Given the description of an element on the screen output the (x, y) to click on. 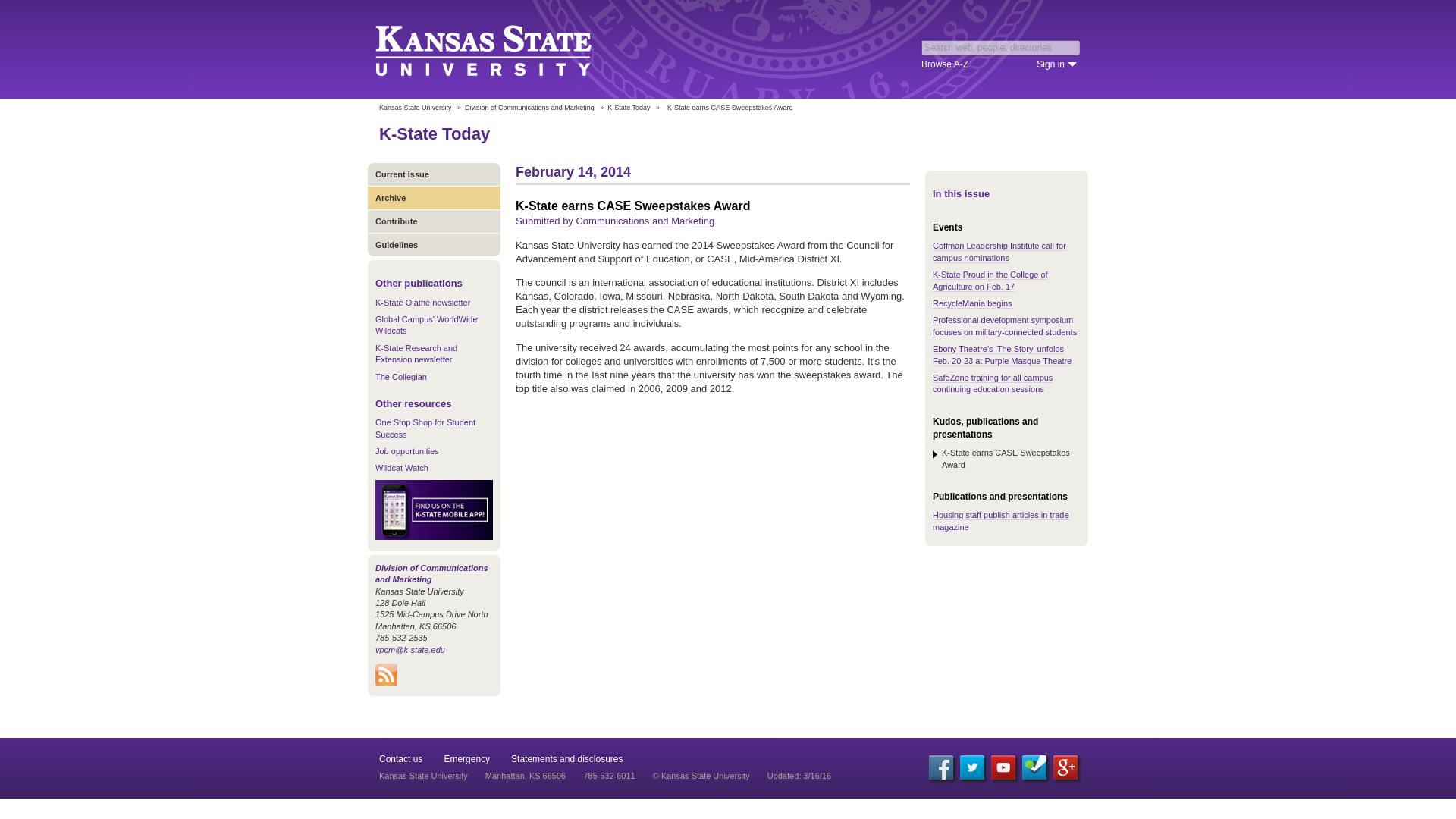
Foursquare (1034, 767)
Facebook (940, 767)
The Collegian (400, 376)
K-State Today (628, 107)
Sign in (1056, 64)
Submitted by Communications and Marketing (614, 221)
Archive (434, 197)
Division of Communications and Marketing (529, 107)
Kansas State University (502, 49)
Division of Communications and Marketing (431, 573)
